Given the description of an element on the screen output the (x, y) to click on. 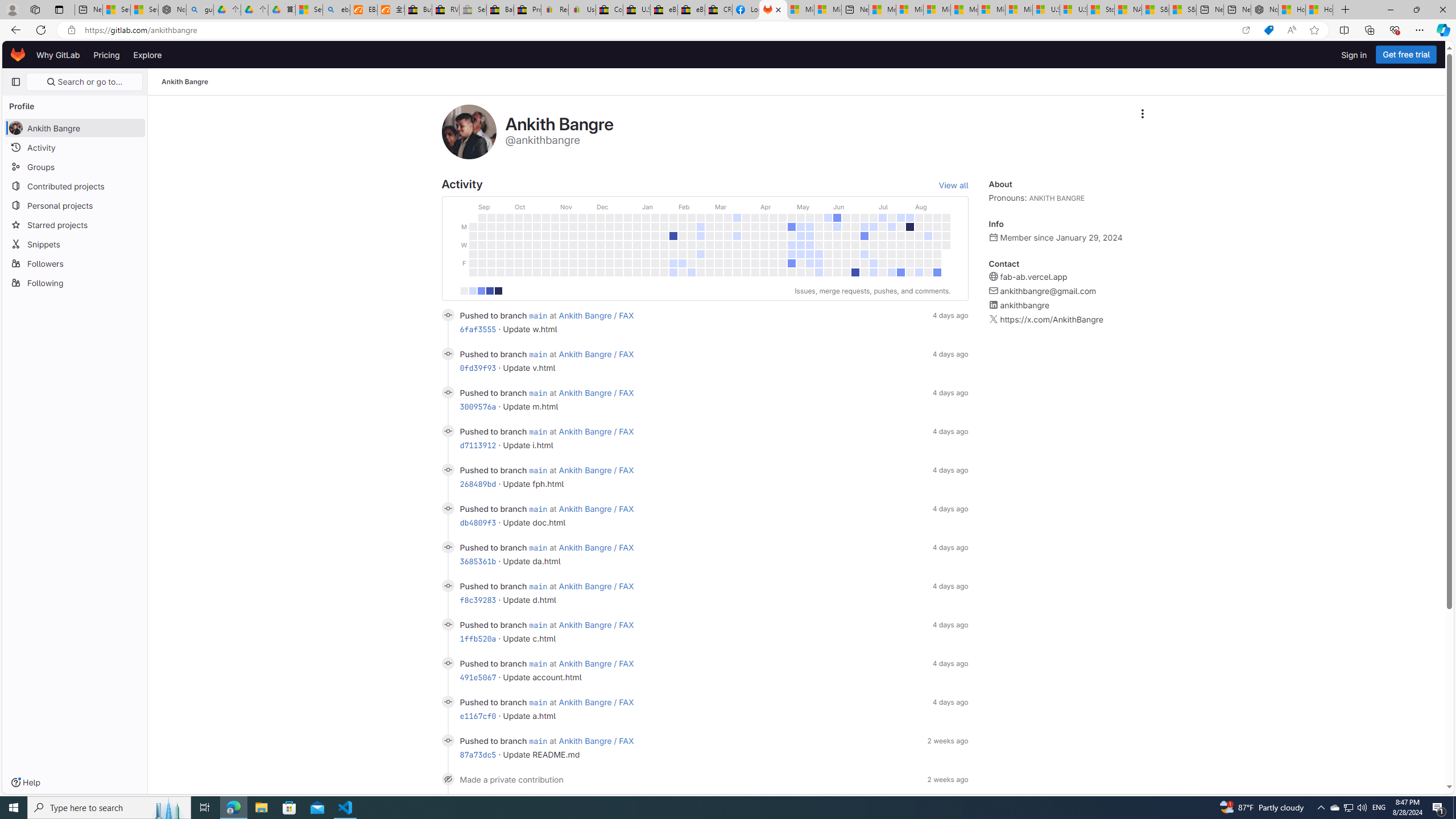
Buy Auto Parts & Accessories | eBay (418, 9)
Register: Create a personal eBay account (554, 9)
